Given the description of an element on the screen output the (x, y) to click on. 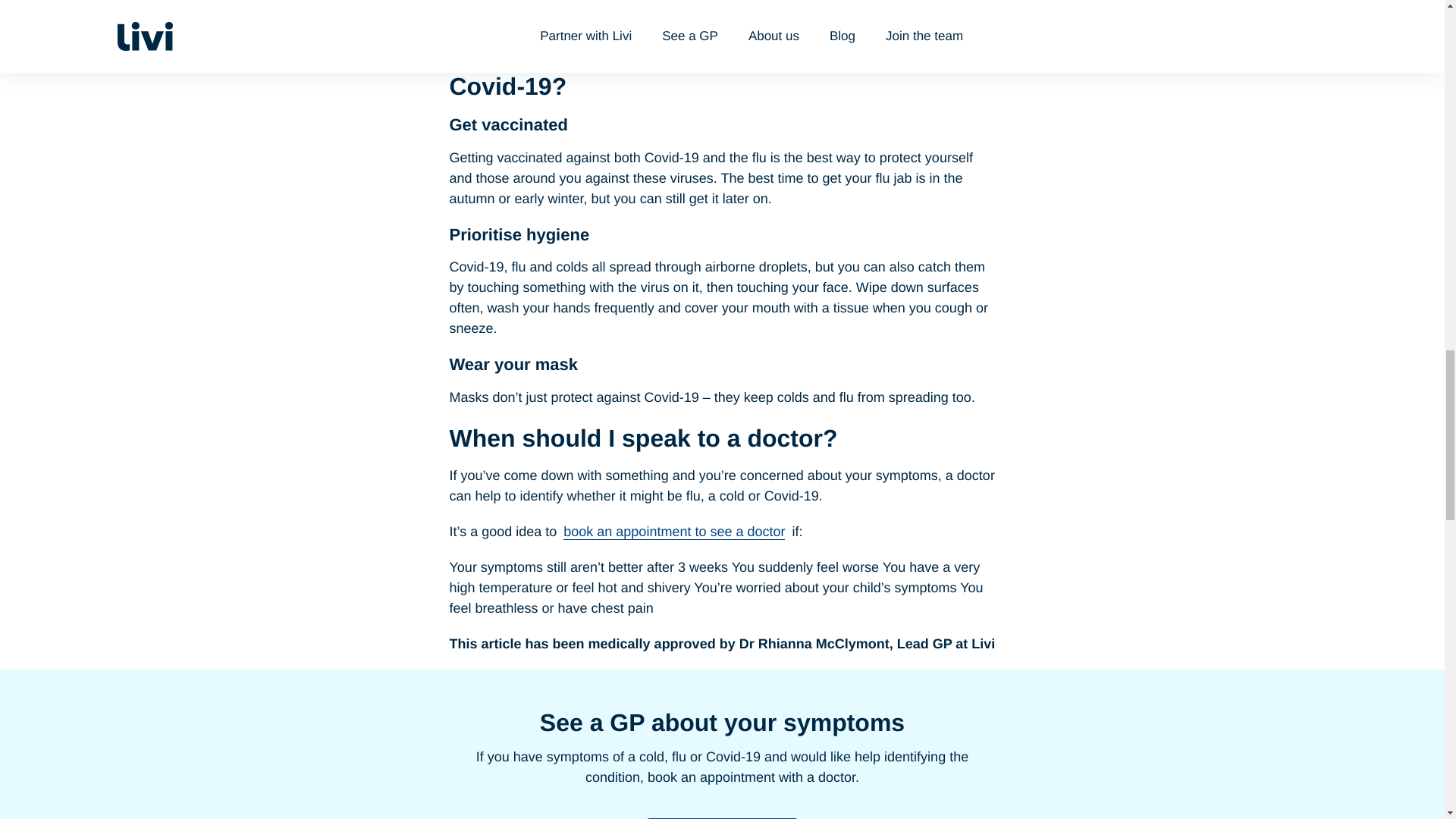
book an appointment to see a doctor (673, 531)
book-an-appointment-to-see-a-doctor (673, 531)
